Given the description of an element on the screen output the (x, y) to click on. 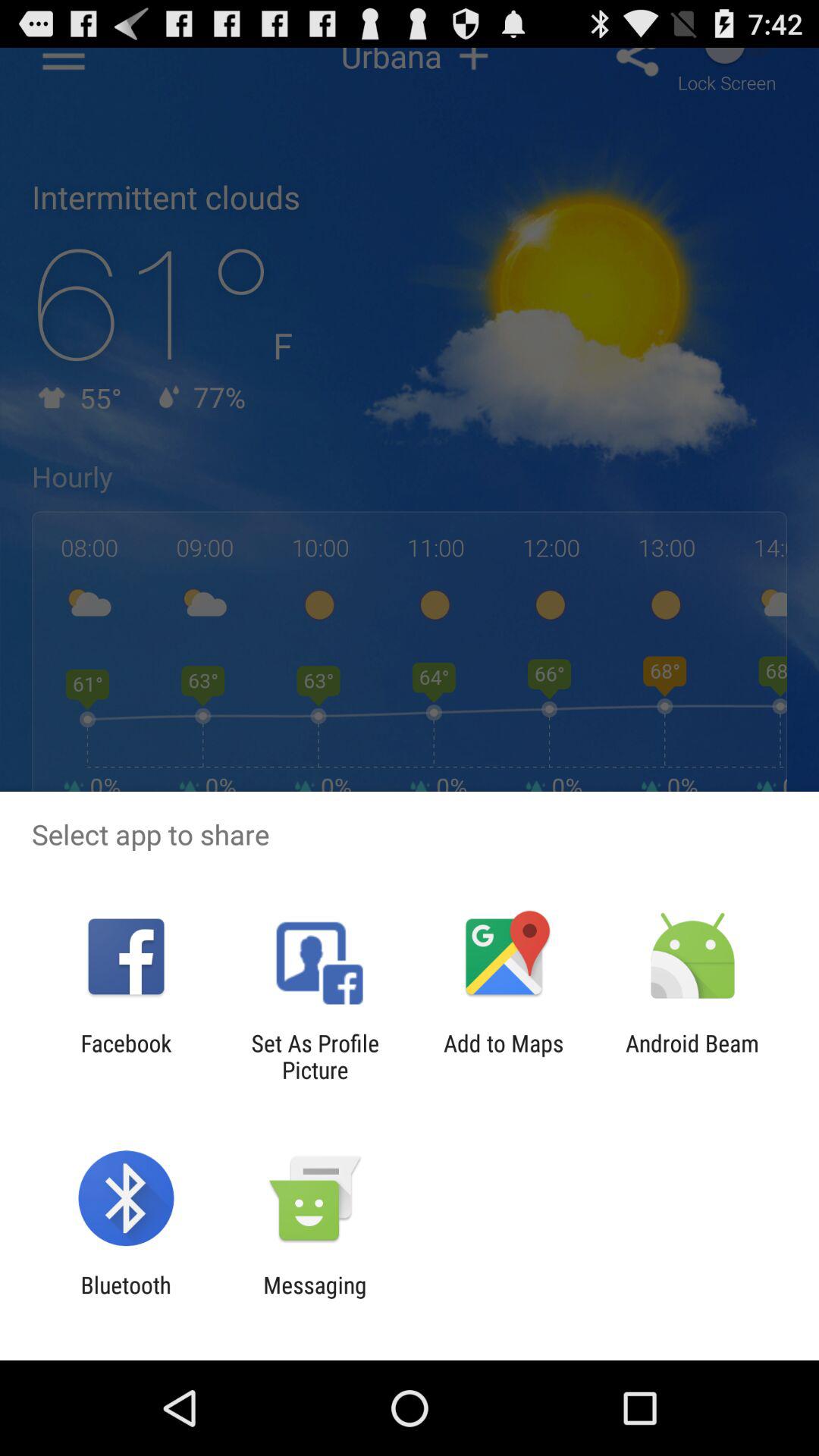
turn off set as profile app (314, 1056)
